Given the description of an element on the screen output the (x, y) to click on. 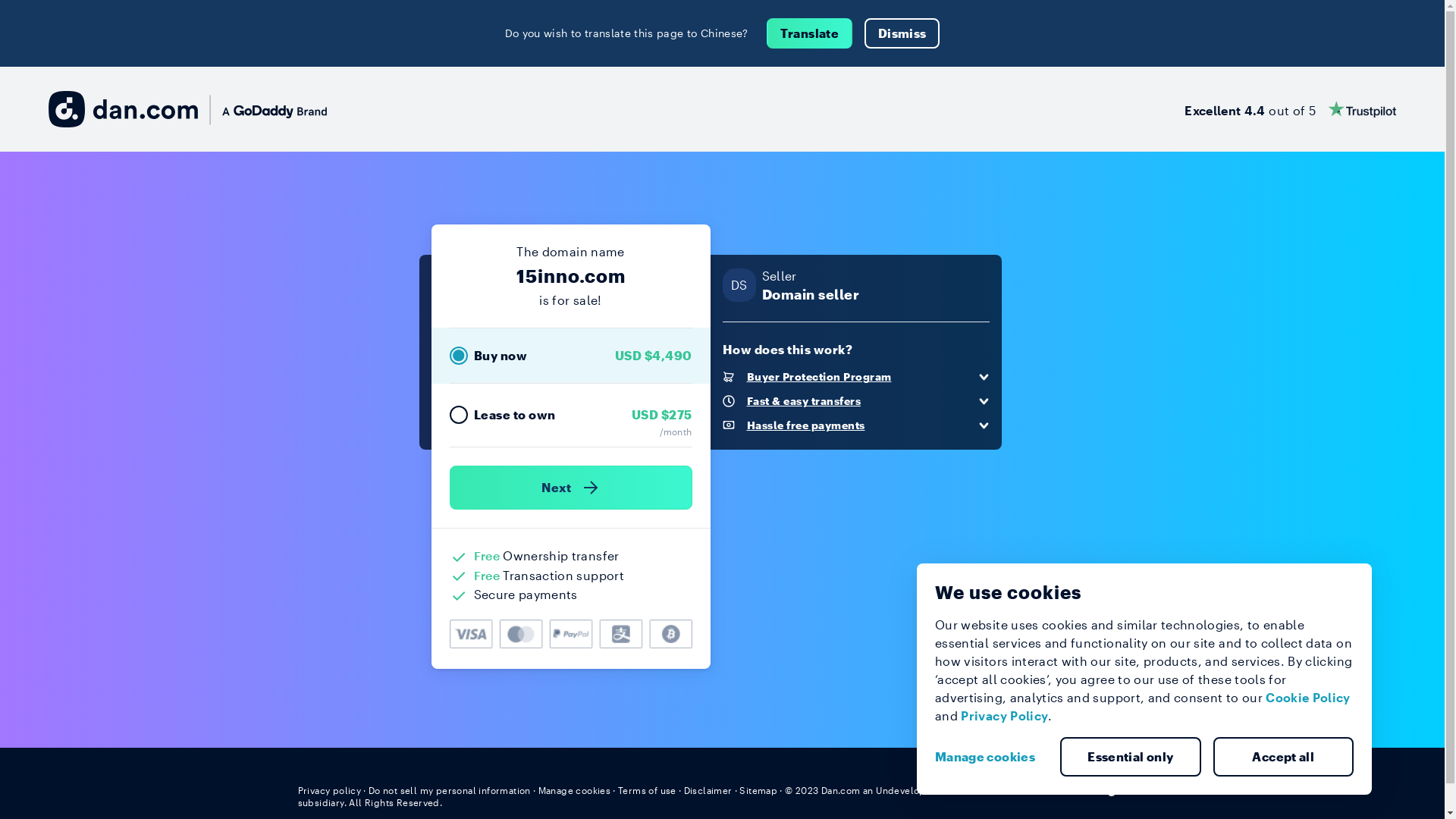
Dismiss Element type: text (901, 33)
Next
) Element type: text (569, 487)
Privacy Policy Element type: text (1004, 715)
Sitemap Element type: text (758, 789)
Terms of use Element type: text (647, 789)
Privacy policy Element type: text (328, 789)
English Element type: text (1119, 789)
Manage cookies Element type: text (991, 756)
Accept all Element type: text (1283, 756)
Essential only Element type: text (1130, 756)
Excellent 4.4 out of 5 Element type: text (1290, 109)
Translate Element type: text (809, 33)
Cookie Policy Element type: text (1307, 697)
Disclaimer Element type: text (708, 789)
Manage cookies Element type: text (574, 790)
Do not sell my personal information Element type: text (449, 789)
